Given the description of an element on the screen output the (x, y) to click on. 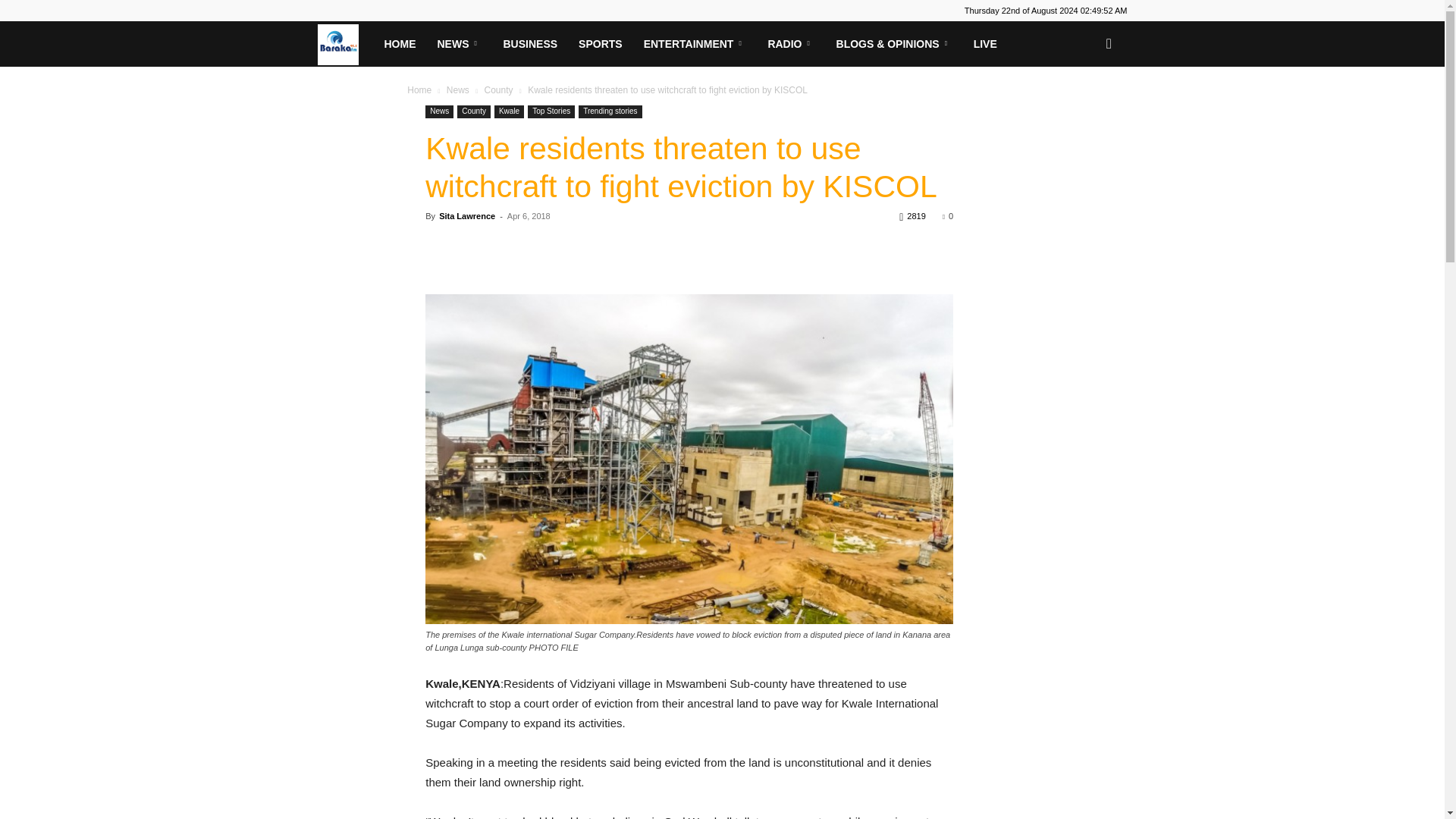
NEWS (459, 43)
Baraka FM 95.5 (344, 43)
HOME (399, 43)
